Given the description of an element on the screen output the (x, y) to click on. 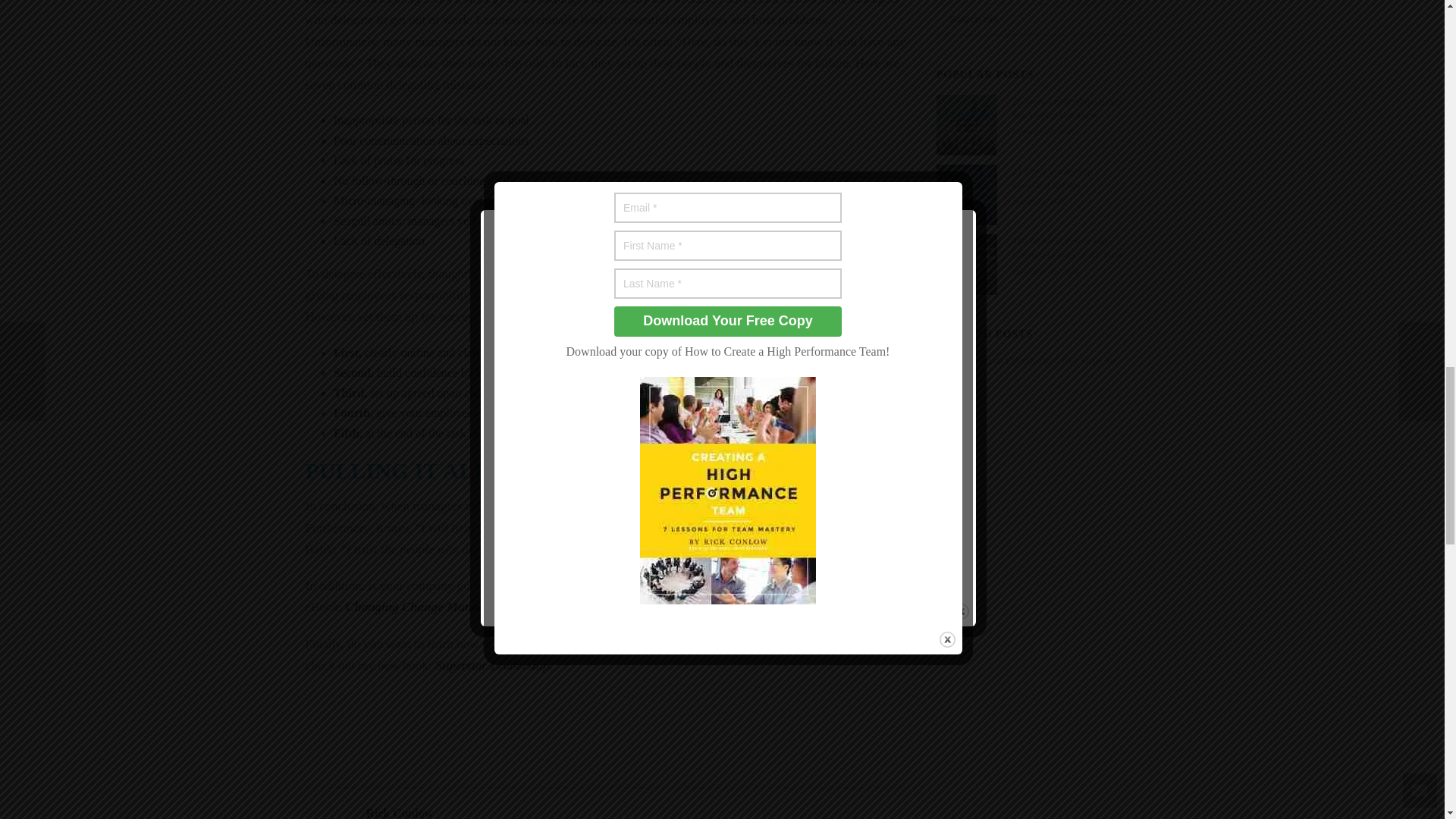
25 Team Leadership Quotes that Inspire Greatness (966, 125)
21 Great Leadership Coaching Quotes (966, 194)
Superstar Leadership Model eBook by Rick Conlow (846, 634)
